Given the description of an element on the screen output the (x, y) to click on. 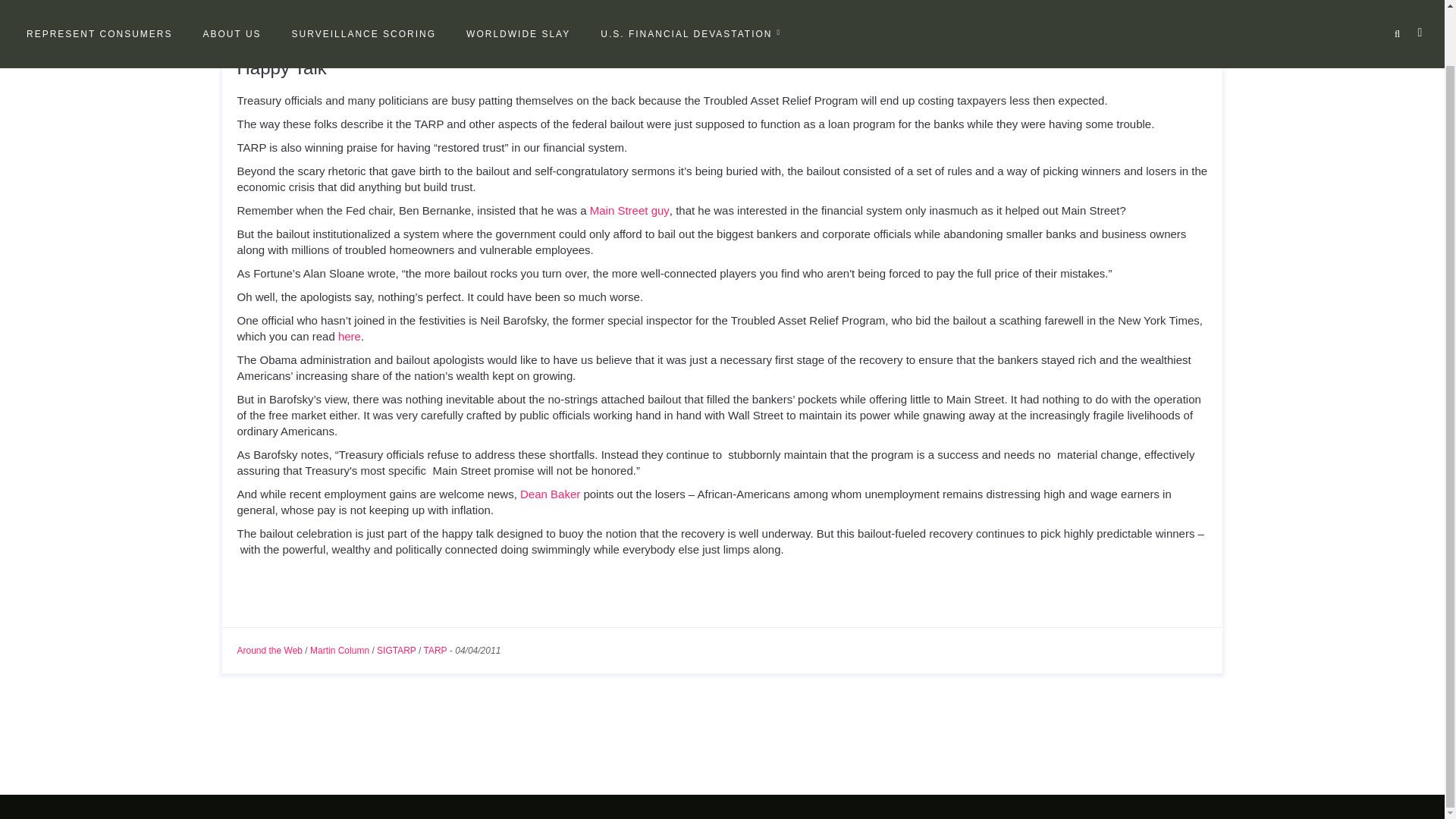
Happy Talk (280, 67)
TARP (434, 650)
Around the Web (268, 650)
Main Street guy (629, 210)
Dean Baker (549, 493)
here (349, 336)
Martin Column (339, 650)
SIGTARP (396, 650)
